Given the description of an element on the screen output the (x, y) to click on. 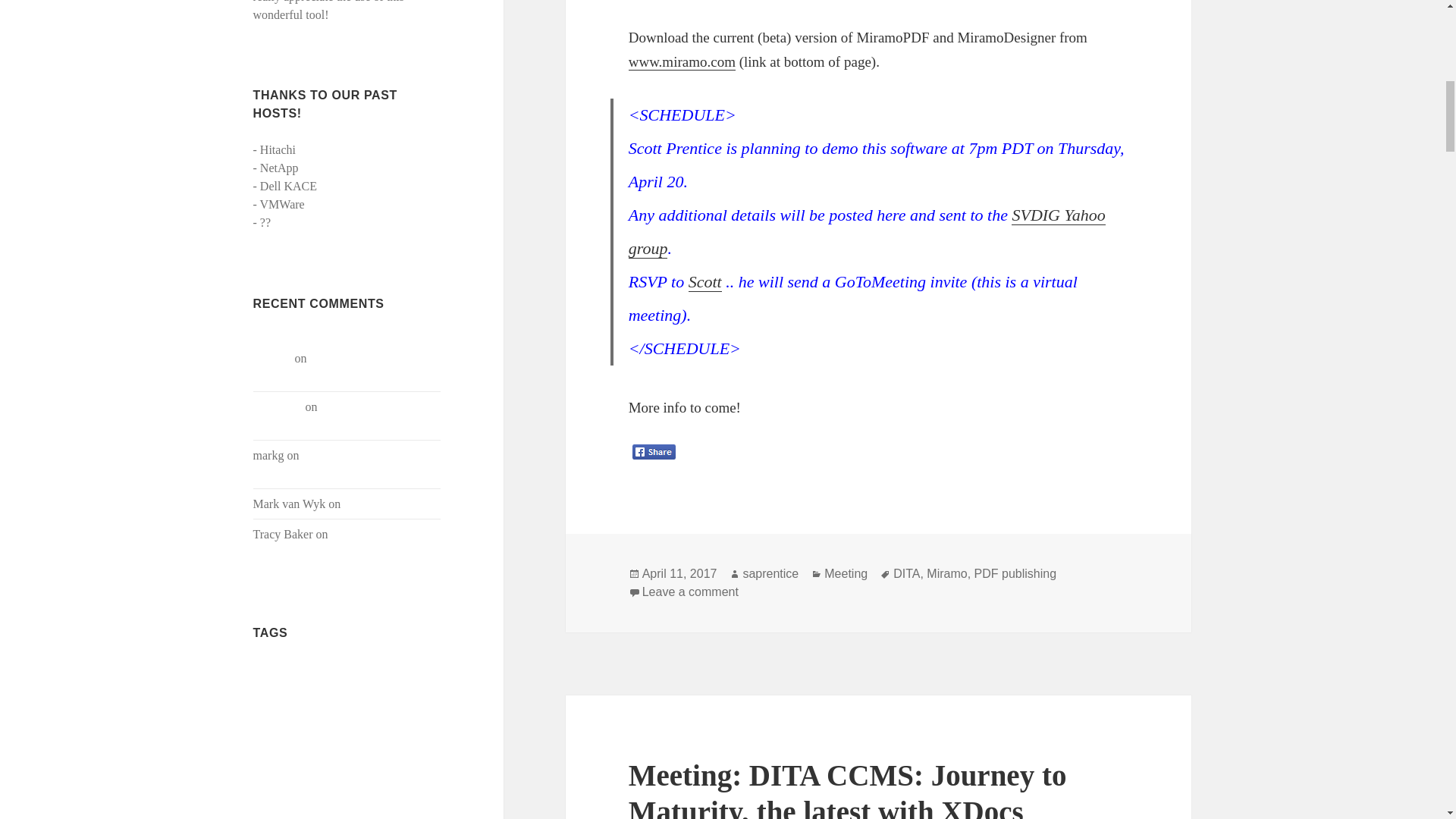
FMx-Auto (324, 803)
Components (273, 723)
Customizing (327, 721)
Meeting: It Was With You All Along: Adaptive DITA! (344, 367)
API (357, 670)
Meeting: It Was With You All Along: Adaptive DITA! (341, 463)
Arbortext (389, 668)
Benefits (267, 695)
Drupal (379, 779)
DITA Map (327, 780)
Editing (275, 803)
AIR Help (324, 668)
Meeting: It Was With You All Along: Adaptive DITA! (339, 415)
CMS (405, 691)
Business (367, 695)
